Given the description of an element on the screen output the (x, y) to click on. 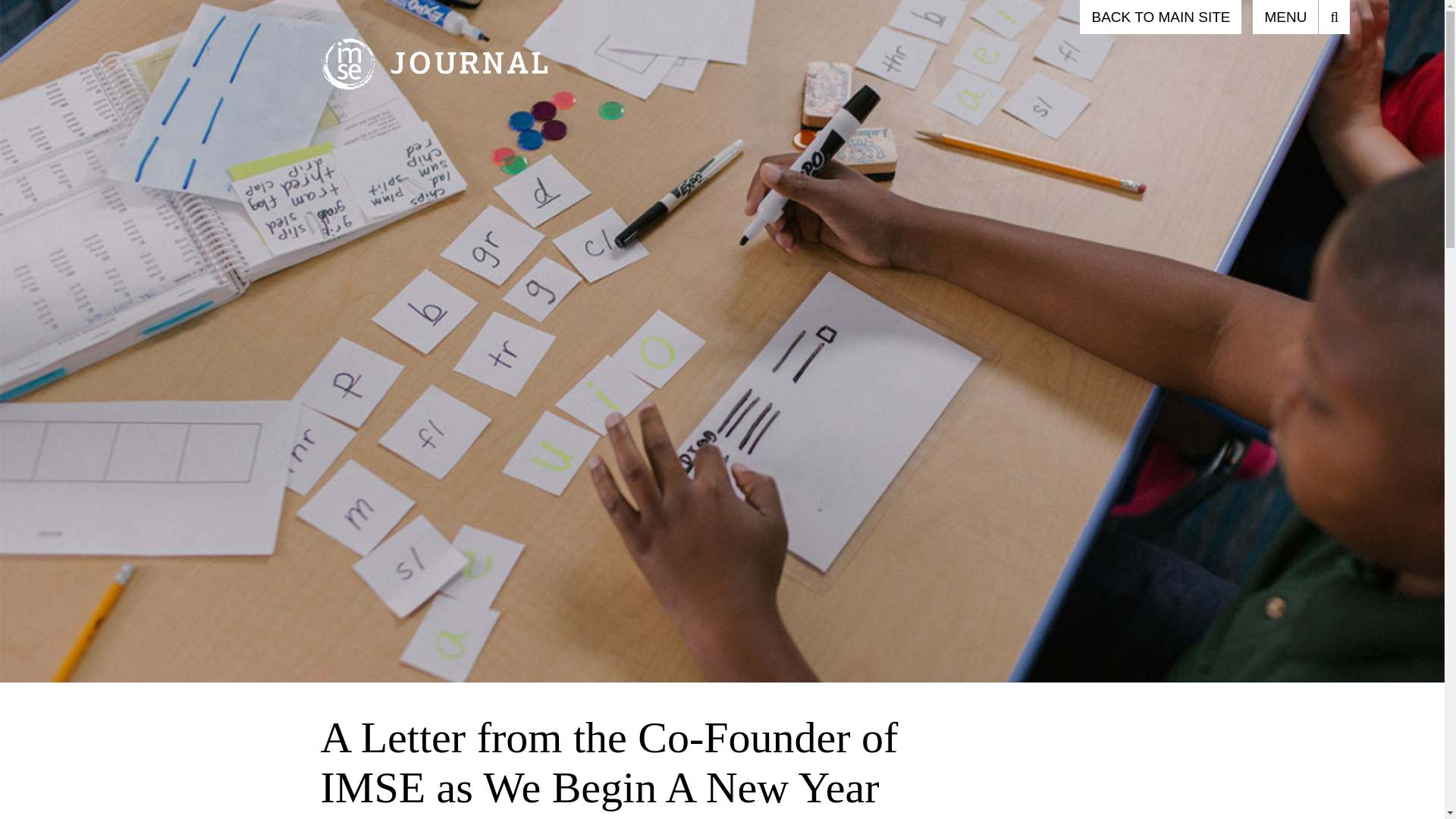
BACK TO MAIN SITE (1160, 17)
MENU (1284, 17)
